Given the description of an element on the screen output the (x, y) to click on. 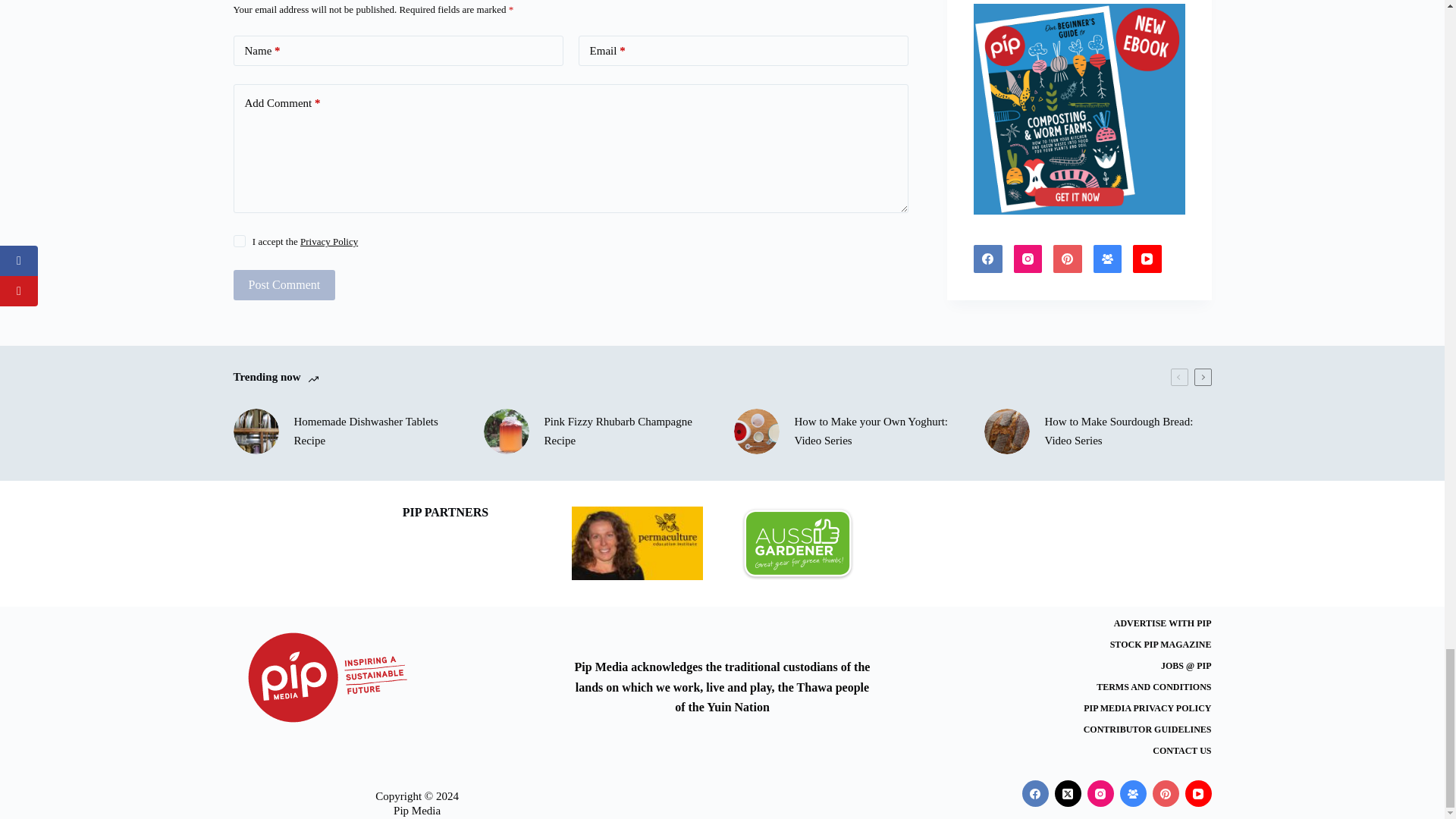
on (239, 241)
